Given the description of an element on the screen output the (x, y) to click on. 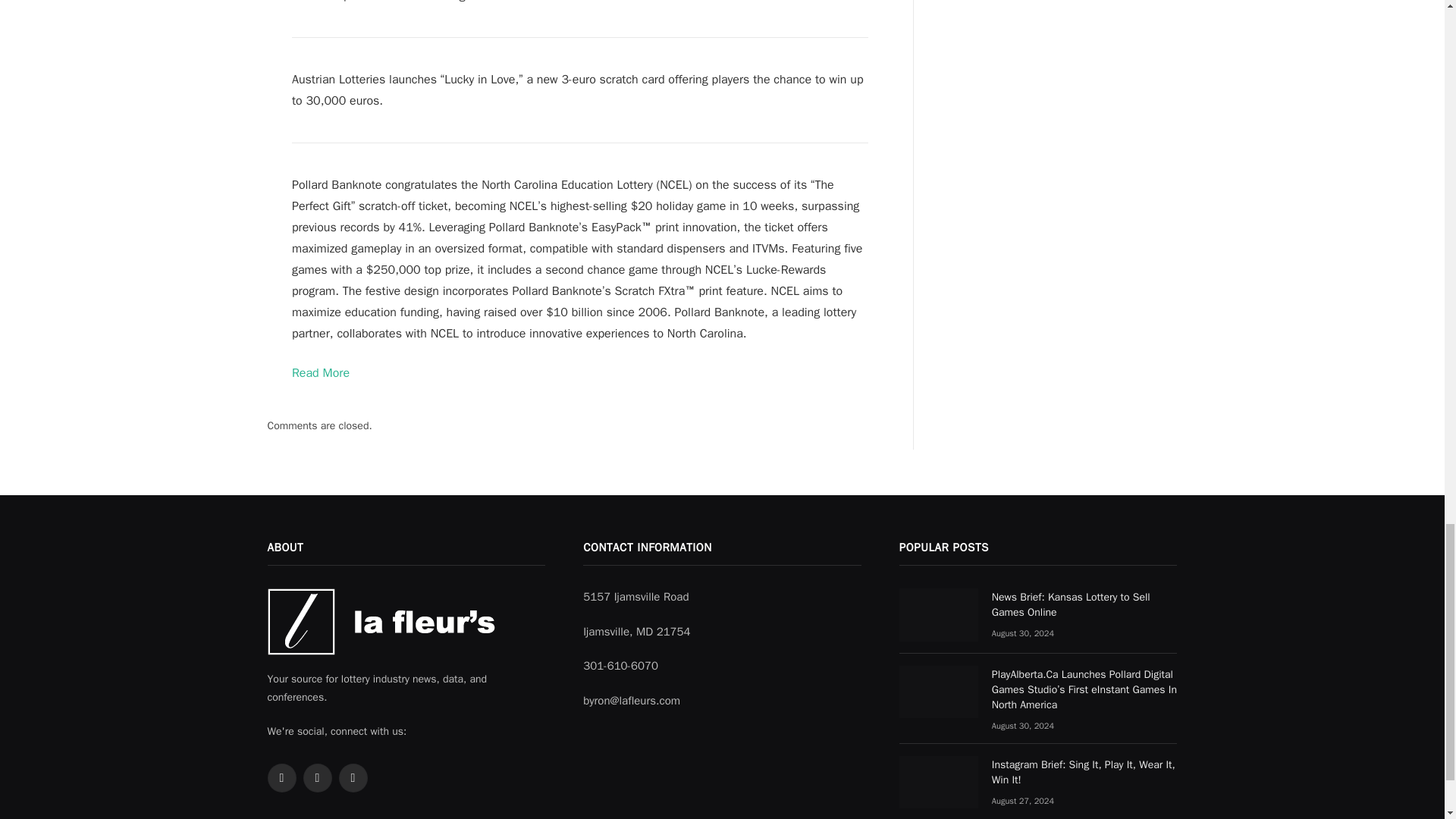
RSS (316, 777)
Twitter (280, 777)
Read More (320, 372)
